Given the description of an element on the screen output the (x, y) to click on. 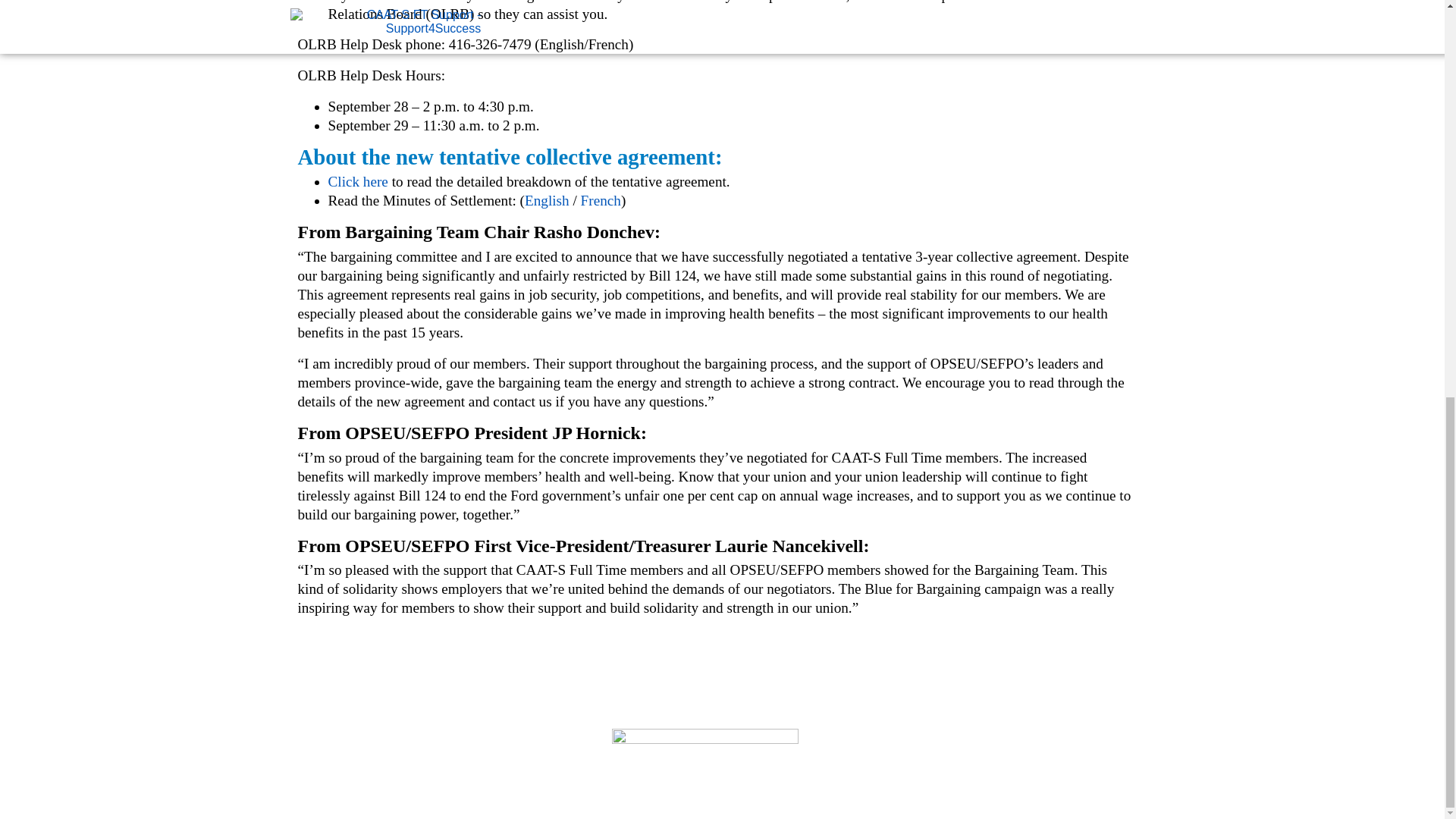
English (546, 200)
French (600, 200)
Click here (357, 181)
